Given the description of an element on the screen output the (x, y) to click on. 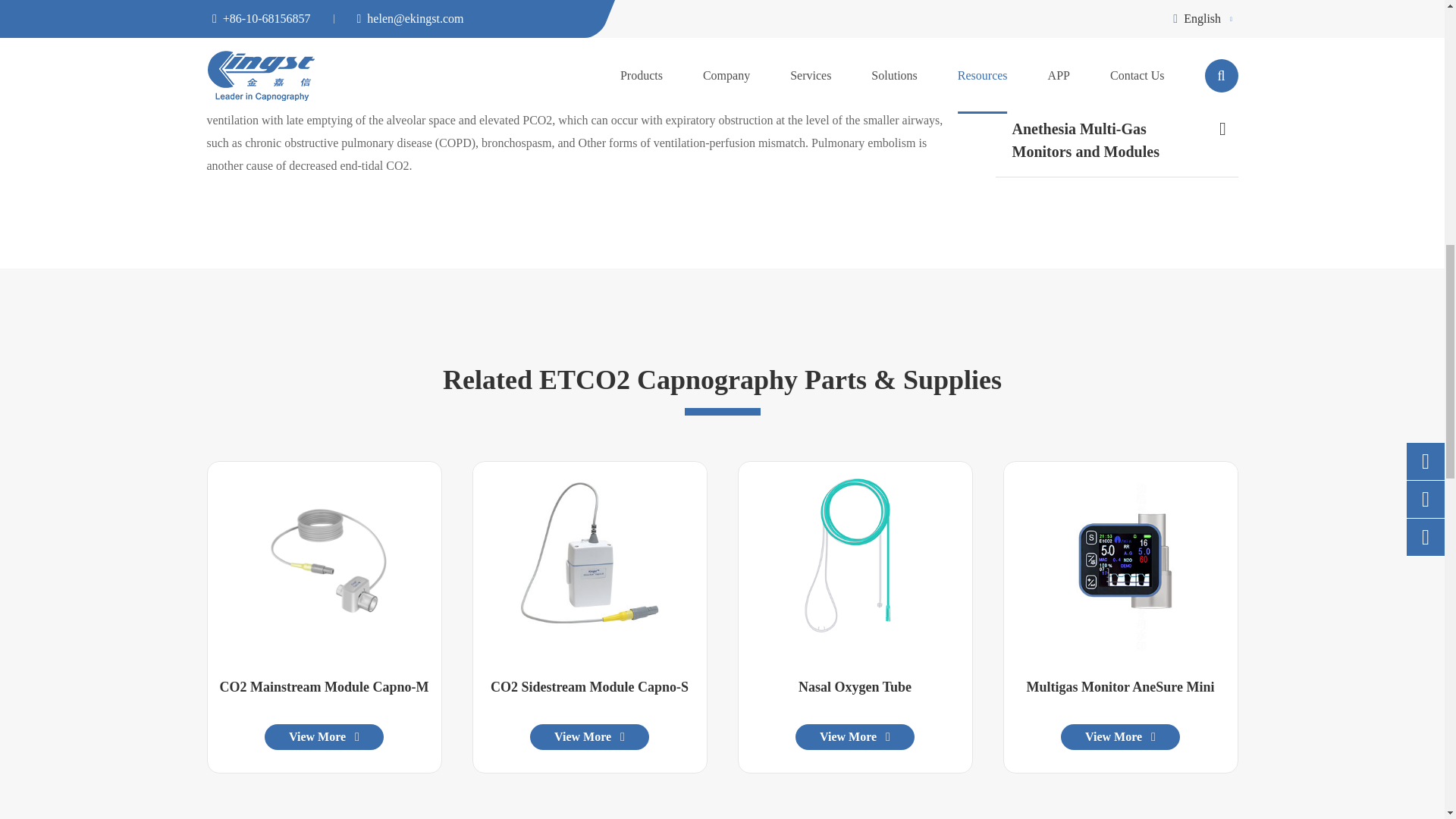
Nasal Oxygen Tube (855, 561)
CO2 Sidestream Module Capno-S (589, 561)
CO2 Mainstream Module Capno-M (324, 560)
Multigas Monitor AneSure Mini (1120, 561)
